Given the description of an element on the screen output the (x, y) to click on. 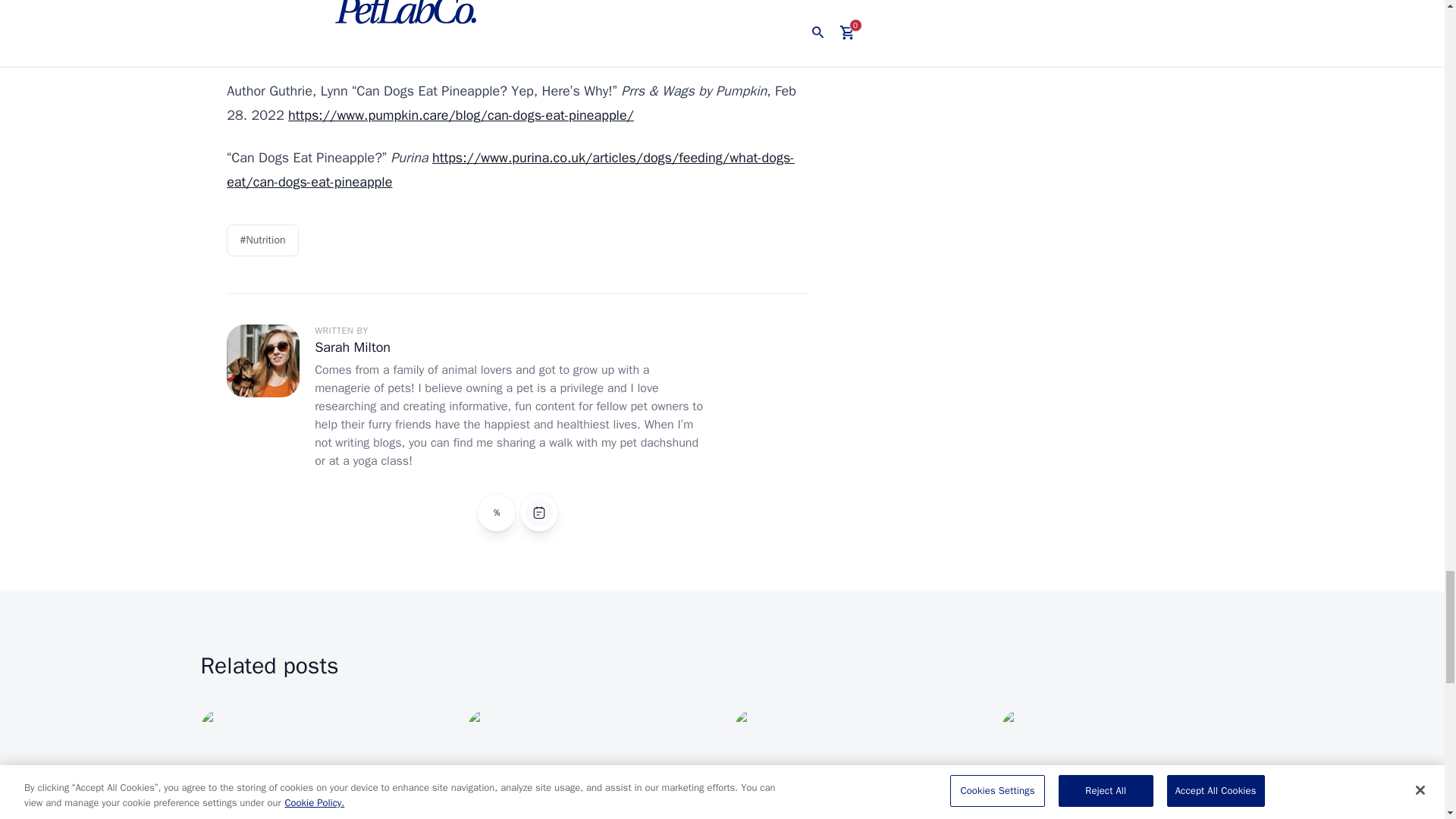
Sarah Milton (352, 347)
